Given the description of an element on the screen output the (x, y) to click on. 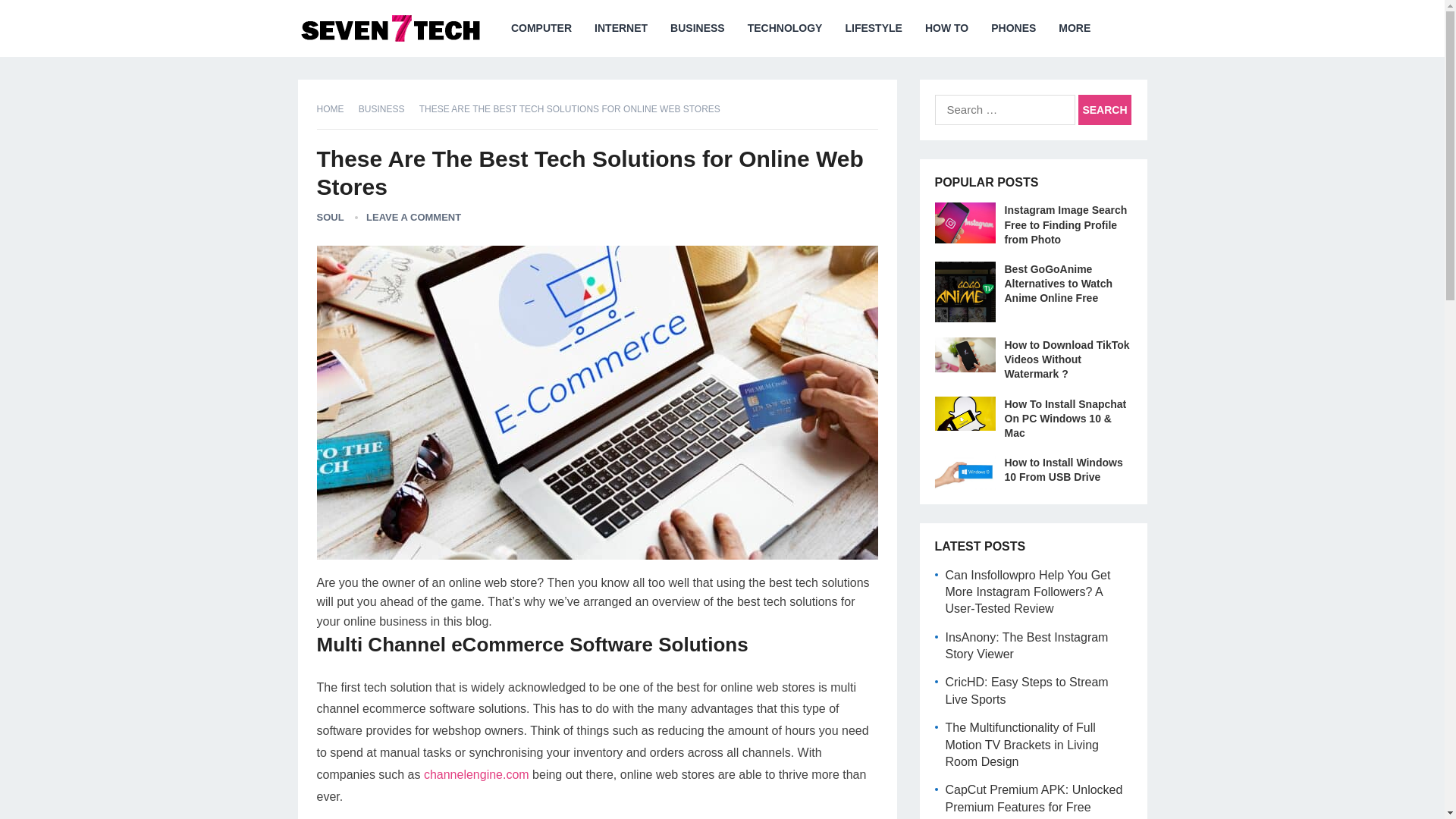
BUSINESS (697, 28)
Best GoGoAnime Alternatives to Watch Anime Online Free (1058, 282)
SOUL (330, 216)
BUSINESS (386, 109)
LIFESTYLE (872, 28)
Search (1104, 110)
INTERNET (621, 28)
Search (1104, 110)
MORE (1074, 28)
PHONES (1012, 28)
